Given the description of an element on the screen output the (x, y) to click on. 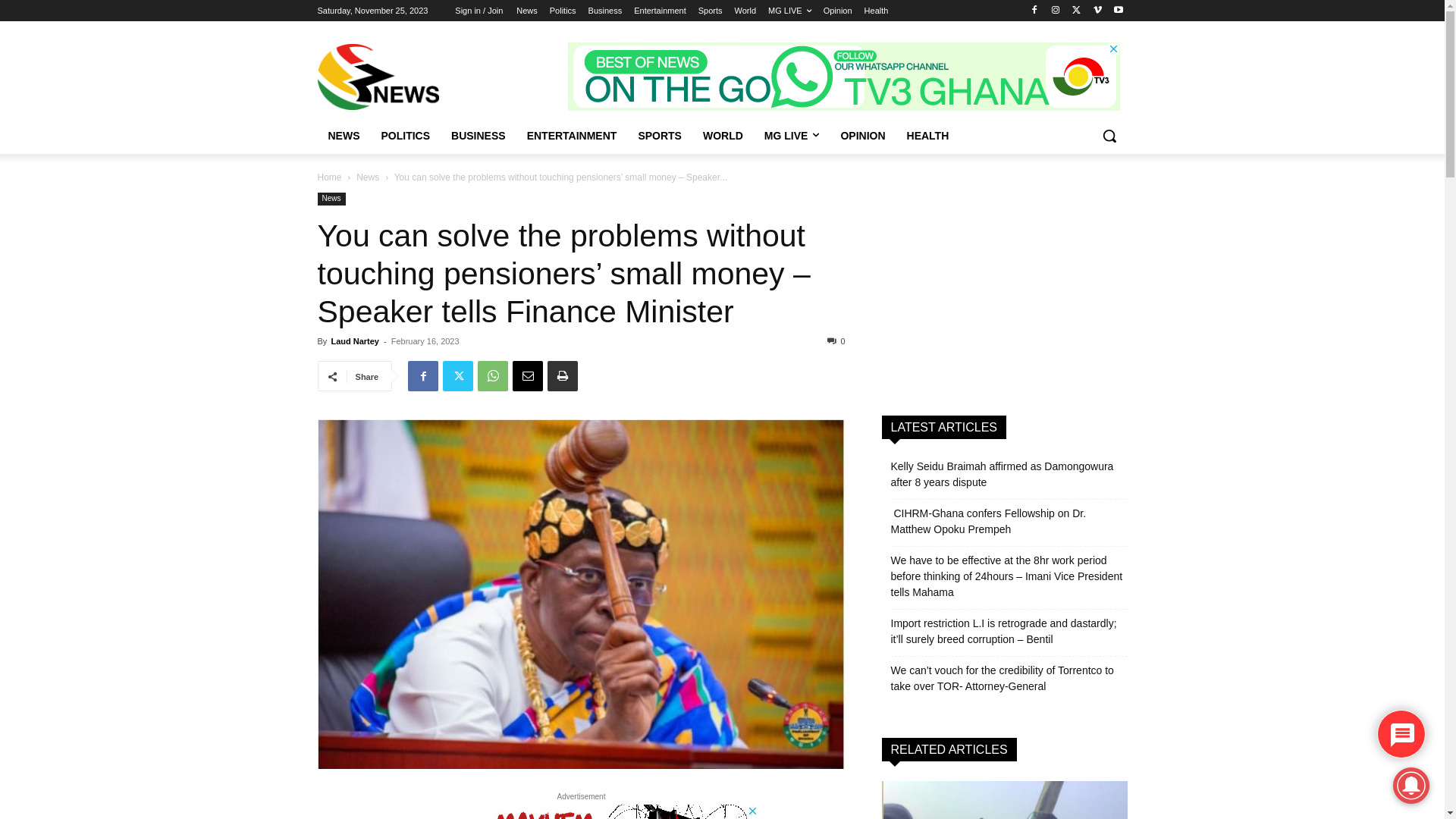
OPINION Element type: text (862, 135)
Health Element type: text (876, 10)
Facebook Element type: hover (1034, 9)
Vimeo Element type: hover (1097, 9)
Home Element type: text (328, 177)
ENTERTAINMENT Element type: text (571, 135)
Print Element type: hover (562, 375)
0 Element type: text (835, 340)
World Element type: text (745, 10)
MG LIVE Element type: text (791, 135)
Opinion Element type: text (837, 10)
Email Element type: hover (527, 375)
Laud Nartey Element type: text (354, 340)
MG LIVE Element type: text (789, 10)
POLITICS Element type: text (405, 135)
Sign in / Join Element type: text (478, 10)
WhatsApp Element type: hover (492, 375)
Twitter Element type: hover (1076, 9)
News Element type: text (330, 198)
BUSINESS Element type: text (478, 135)
Sports Element type: text (710, 10)
Politics Element type: text (562, 10)
3rd party ad content Element type: hover (843, 76)
Facebook Element type: hover (422, 375)
Advertisement Element type: hover (1003, 287)
Entertainment Element type: text (659, 10)
Twitter Element type: hover (457, 375)
News Element type: text (526, 10)
News Element type: text (367, 177)
SPORTS Element type: text (659, 135)
RELATED ARTICLES Element type: text (948, 749)
HEALTH Element type: text (928, 135)
NEWS Element type: text (343, 135)
Instagram Element type: hover (1054, 9)
WORLD Element type: text (722, 135)
Youtube Element type: hover (1118, 9)
 CIHRM-Ghana confers Fellowship on Dr. Matthew Opoku Prempeh Element type: text (1008, 521)
Business Element type: text (605, 10)
Speaker Alban Bagbin gavel Element type: hover (580, 593)
